Given the description of an element on the screen output the (x, y) to click on. 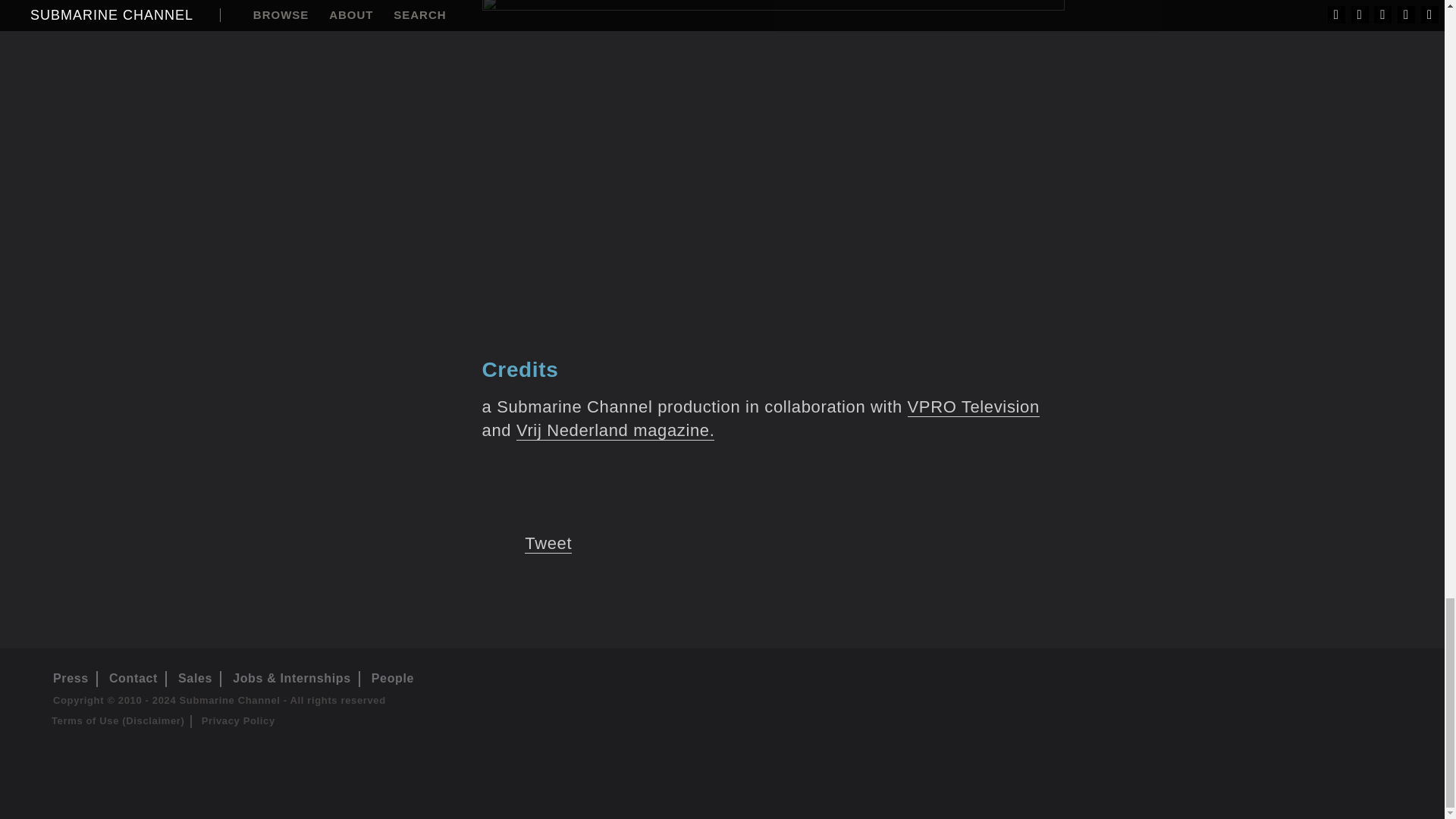
Tweet (548, 543)
Press (70, 677)
VPRO Television (973, 406)
People (392, 677)
Vrij Nederland magazine. (615, 430)
Like this content on Facebook. (633, 540)
VPRO (973, 406)
Contact (133, 677)
Sales (194, 677)
Vrij Nederland (615, 430)
